Given the description of an element on the screen output the (x, y) to click on. 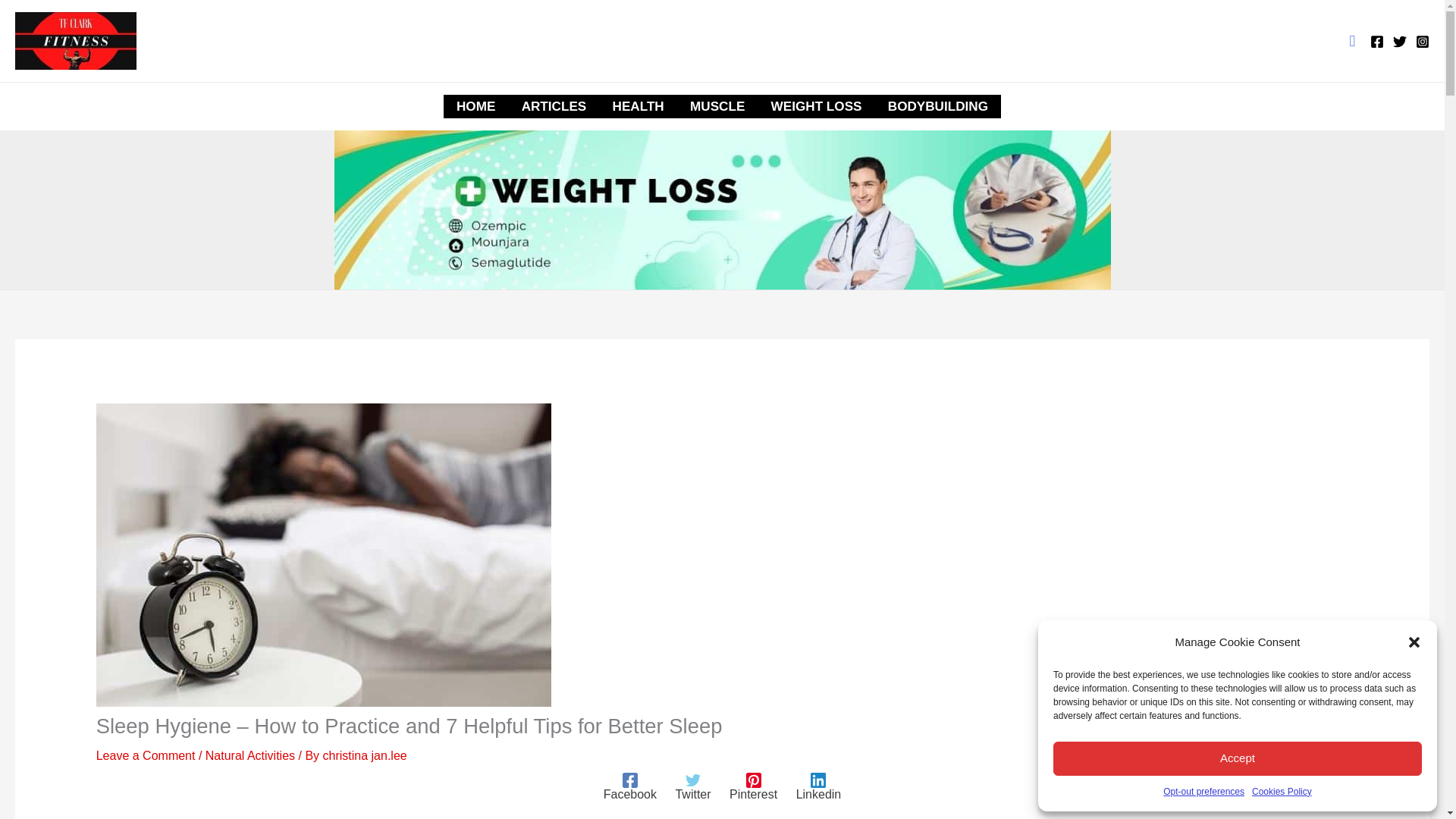
Linkedin (818, 787)
Pinterest (753, 787)
Opt-out preferences (1203, 791)
WEIGHT LOSS (816, 106)
Accept (1237, 758)
Natural Activities (250, 755)
BODYBUILDING (938, 106)
Cookies Policy (1281, 791)
Leave a Comment (145, 755)
TF CLARK FITNESS MAGAZINE (377, 39)
HEALTH (637, 106)
Search (1352, 40)
HOME (476, 106)
Twitter (692, 787)
View all posts by christina jan.lee (365, 755)
